Given the description of an element on the screen output the (x, y) to click on. 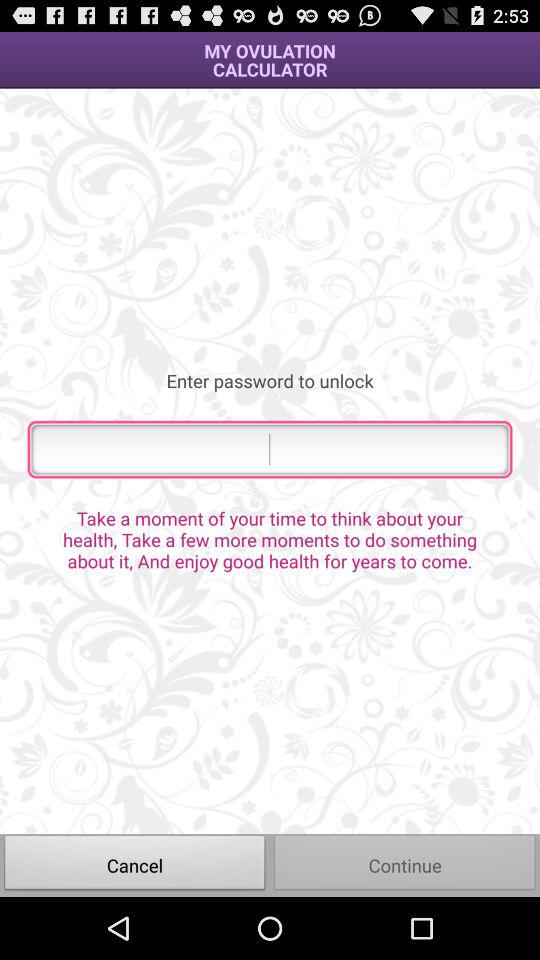
open icon next to continue icon (135, 864)
